Given the description of an element on the screen output the (x, y) to click on. 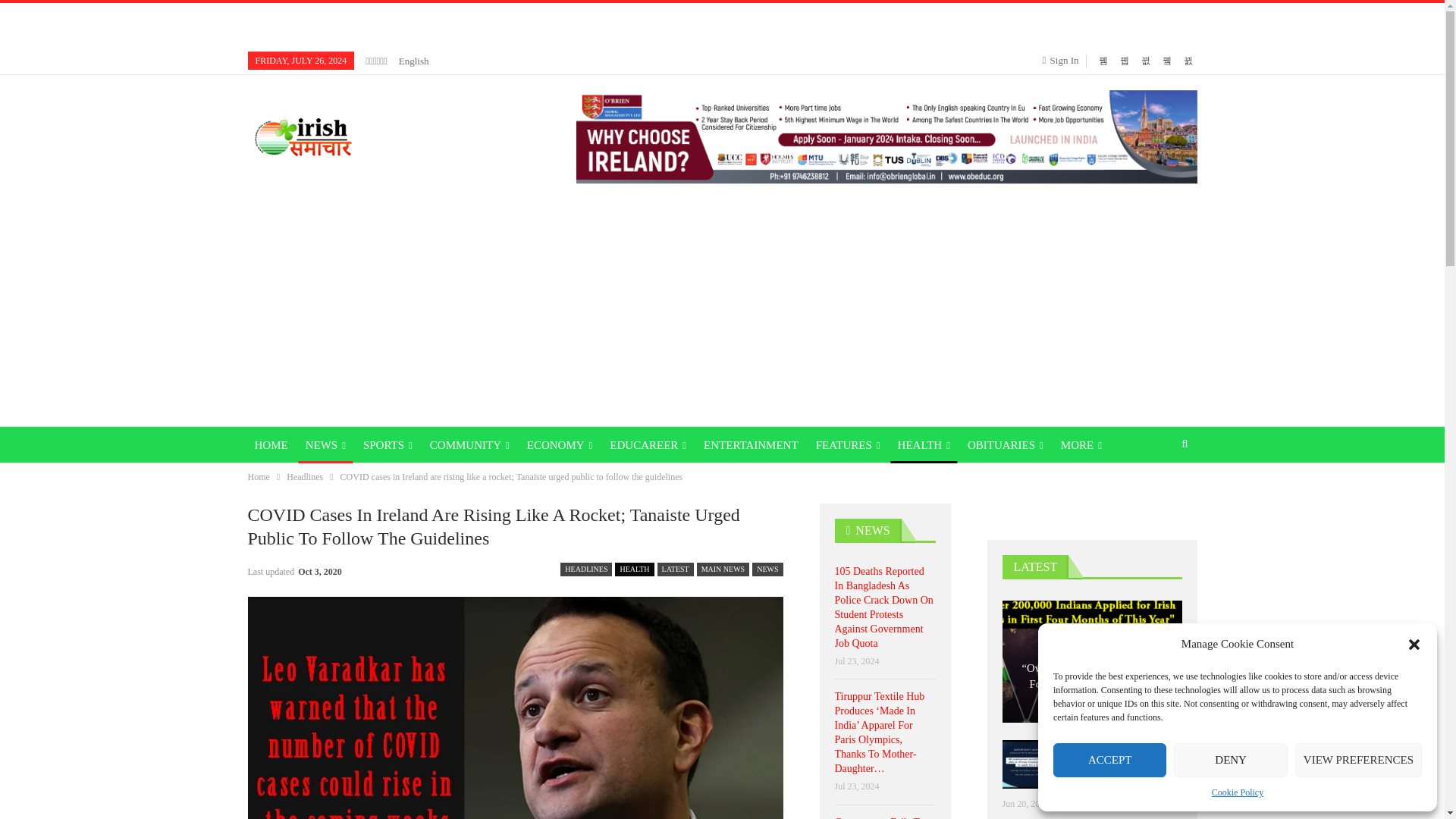
Sign In (1063, 60)
HOME (270, 444)
NEWS (325, 444)
Cookie Policy (1237, 792)
DENY (1230, 759)
ACCEPT (1109, 759)
English (413, 60)
VIEW PREFERENCES (1358, 759)
